Given the description of an element on the screen output the (x, y) to click on. 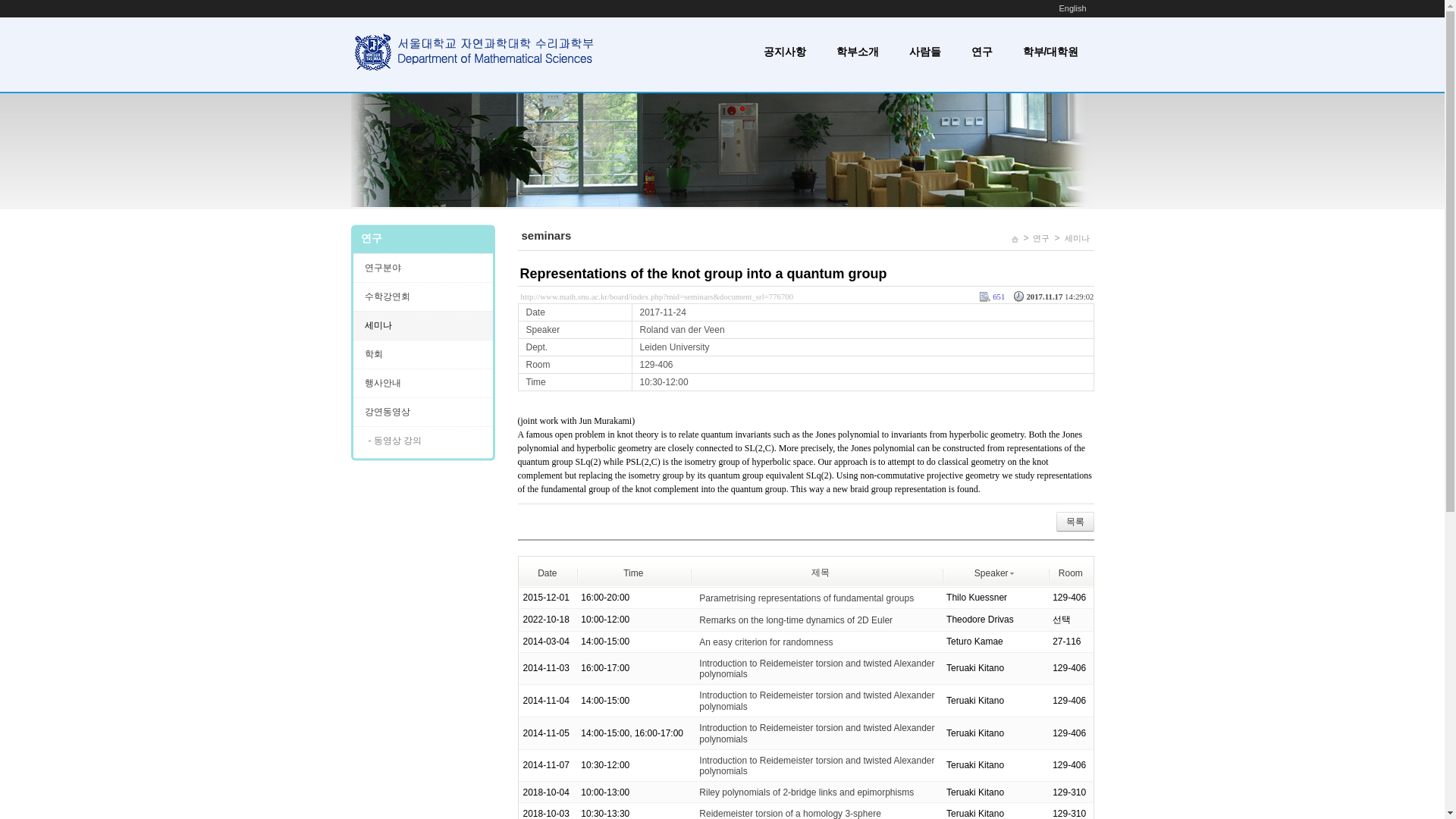
Representations of the knot group into a quantum group (702, 273)
Parametrising representations of fundamental groups (806, 597)
An easy criterion for randomness (765, 642)
Speaker (994, 572)
Remarks on the long-time dynamics of 2D Euler (795, 620)
Date (546, 572)
Room (1070, 572)
English (1072, 8)
Time (633, 572)
